Given the description of an element on the screen output the (x, y) to click on. 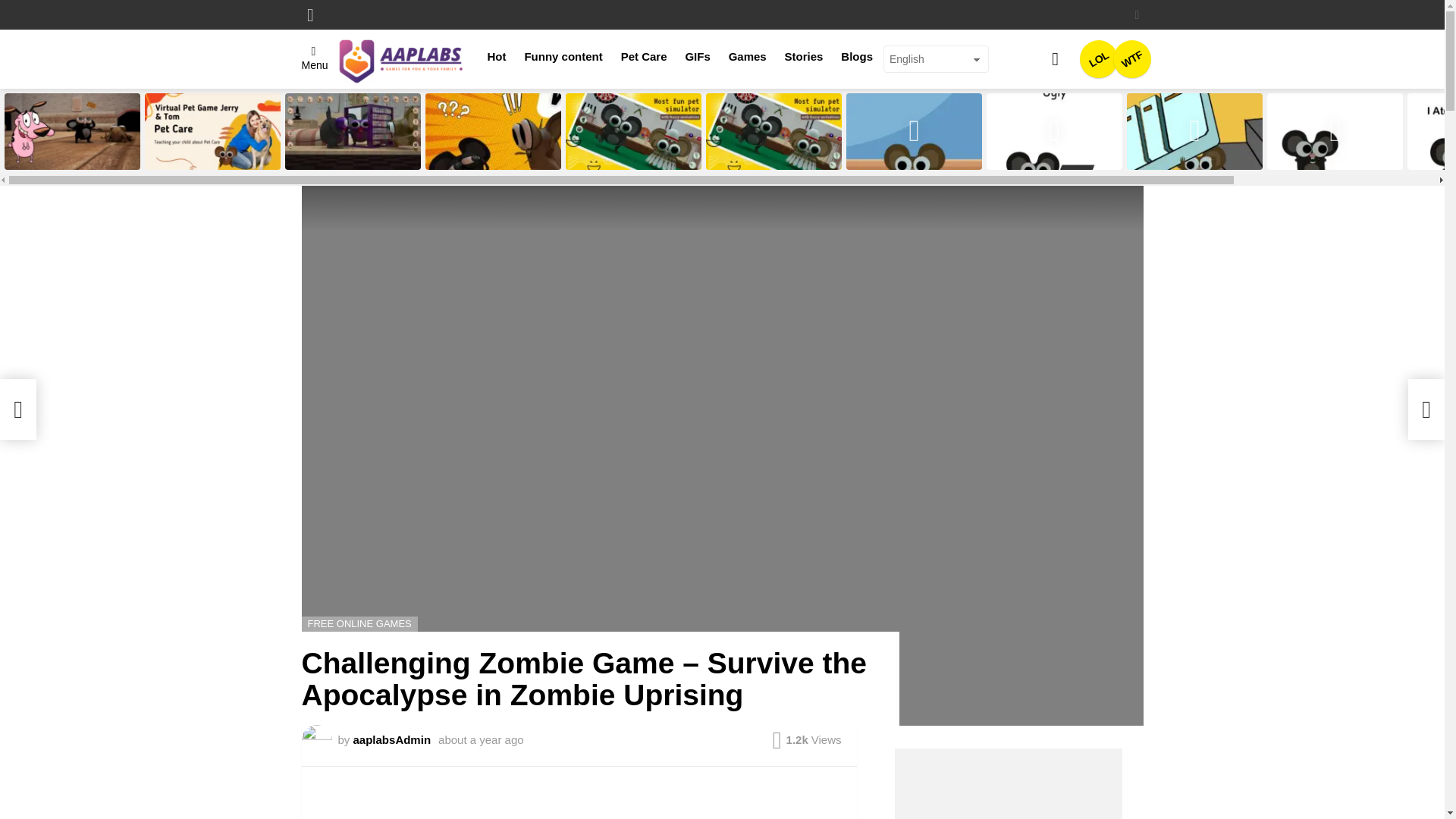
LOGIN (310, 15)
Menu (315, 59)
Funny content (563, 56)
SEARCH (1055, 59)
SWITCH SKIN (1136, 15)
Hot (496, 56)
Blogs (856, 56)
Games (747, 56)
GIFs (1132, 58)
Pet Care (697, 56)
Stories (643, 56)
